Given the description of an element on the screen output the (x, y) to click on. 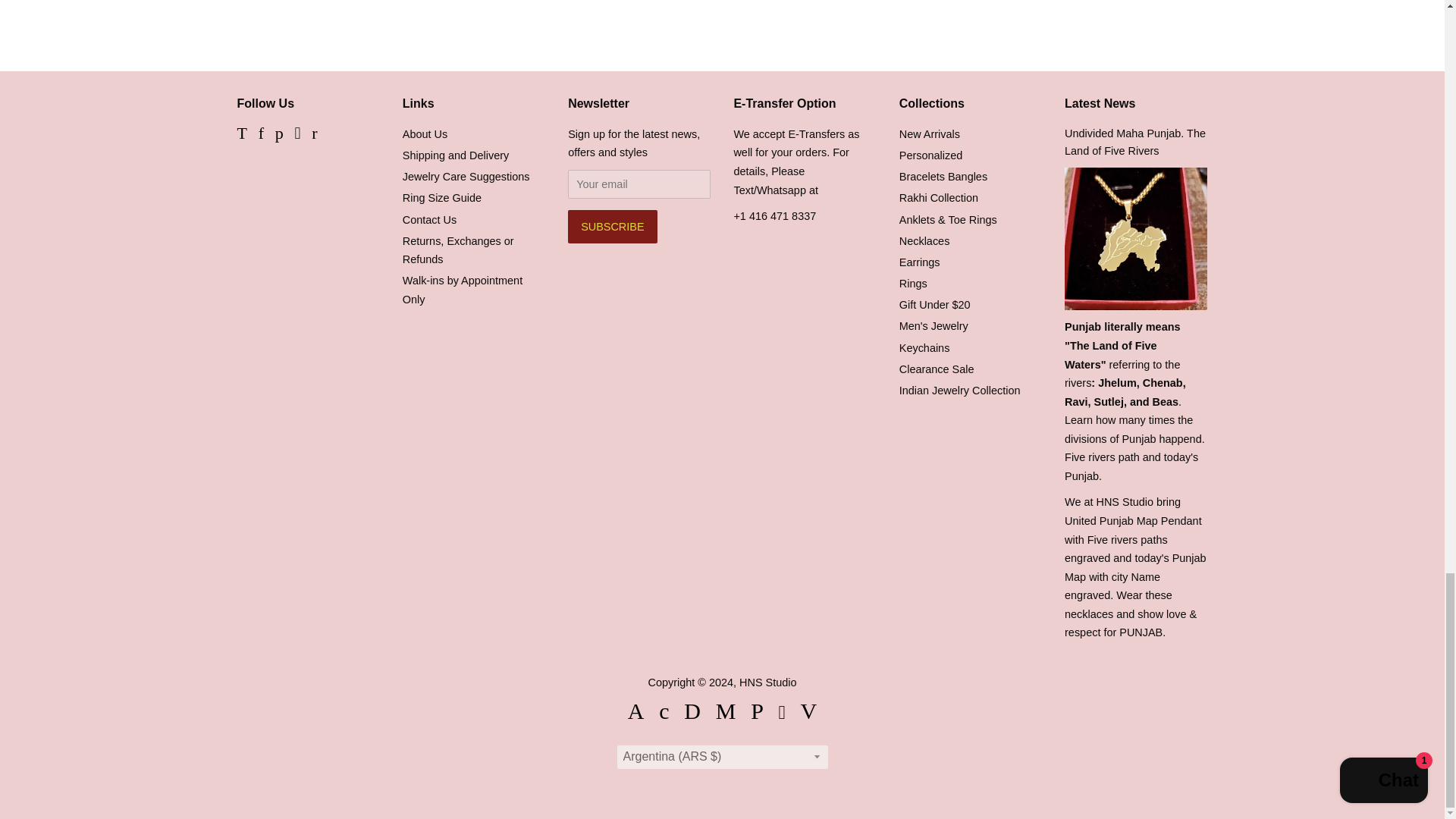
Subscribe (611, 226)
